Given the description of an element on the screen output the (x, y) to click on. 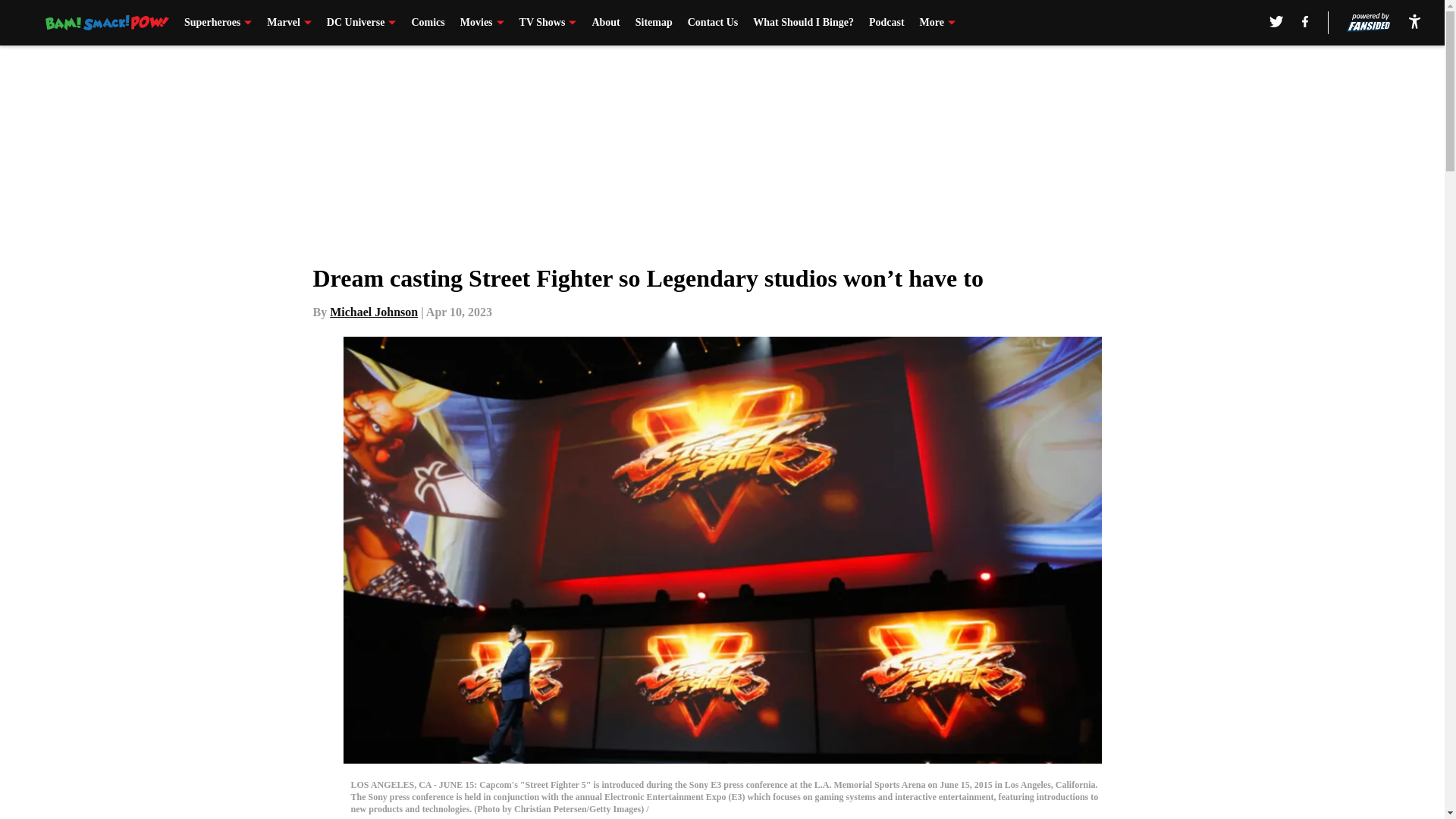
About (605, 22)
Michael Johnson (373, 311)
More (937, 22)
Sitemap (653, 22)
Podcast (886, 22)
What Should I Binge? (802, 22)
Comics (427, 22)
Movies (481, 22)
Contact Us (712, 22)
